Given the description of an element on the screen output the (x, y) to click on. 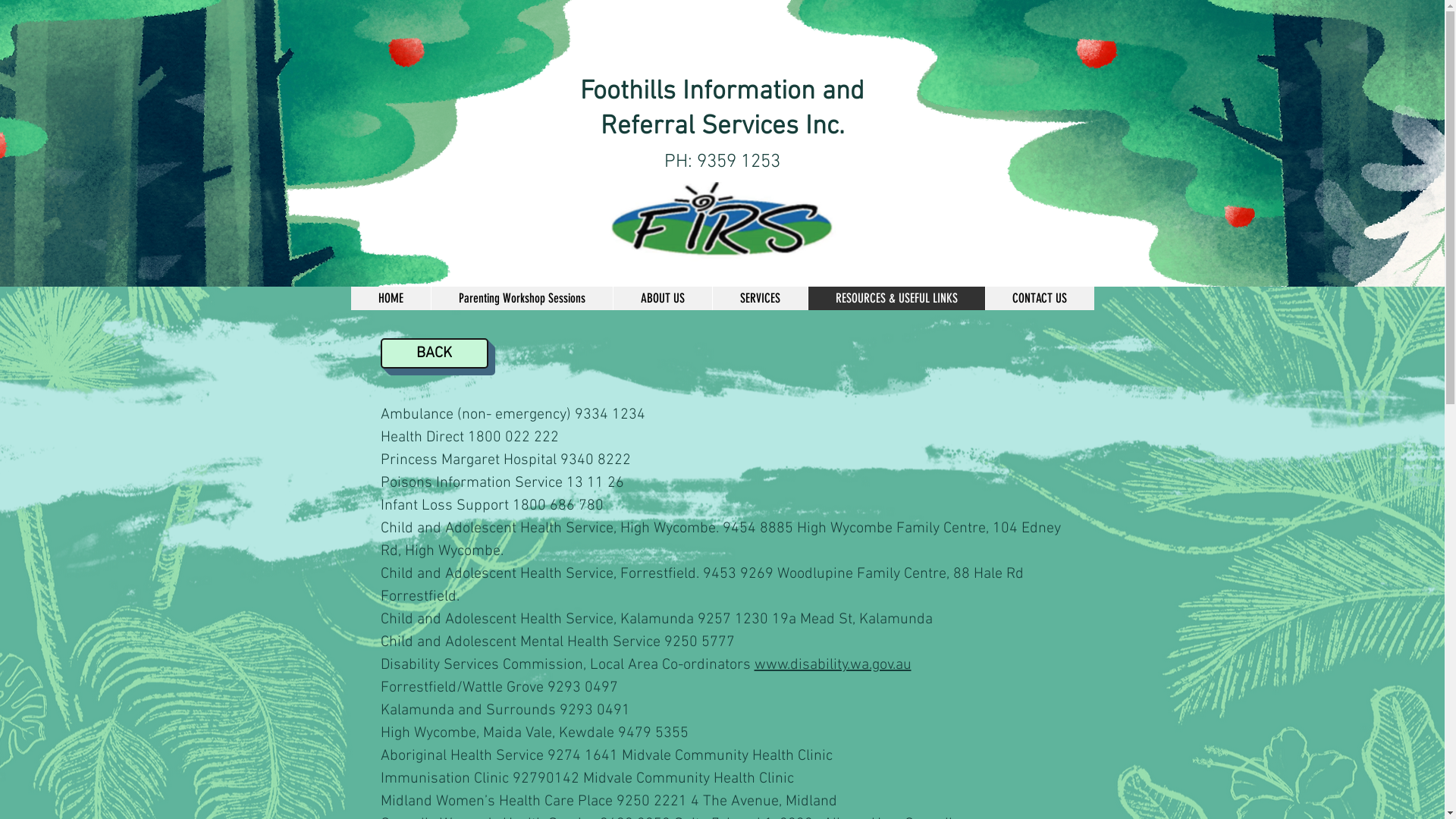
www.disability.wa.gov.au Element type: text (831, 664)
Parenting Workshop Sessions Element type: text (521, 298)
PH: 9359 1253 Element type: text (722, 161)
Foothills Information and Referral Services  Element type: text (722, 108)
RESOURCES & USEFUL LINKS Element type: text (895, 298)
BACK Element type: text (434, 353)
HOME Element type: text (389, 298)
Inc. Element type: text (824, 126)
ABOUT US Element type: text (662, 298)
CONTACT US Element type: text (1038, 298)
SERVICES Element type: text (758, 298)
